Given the description of an element on the screen output the (x, y) to click on. 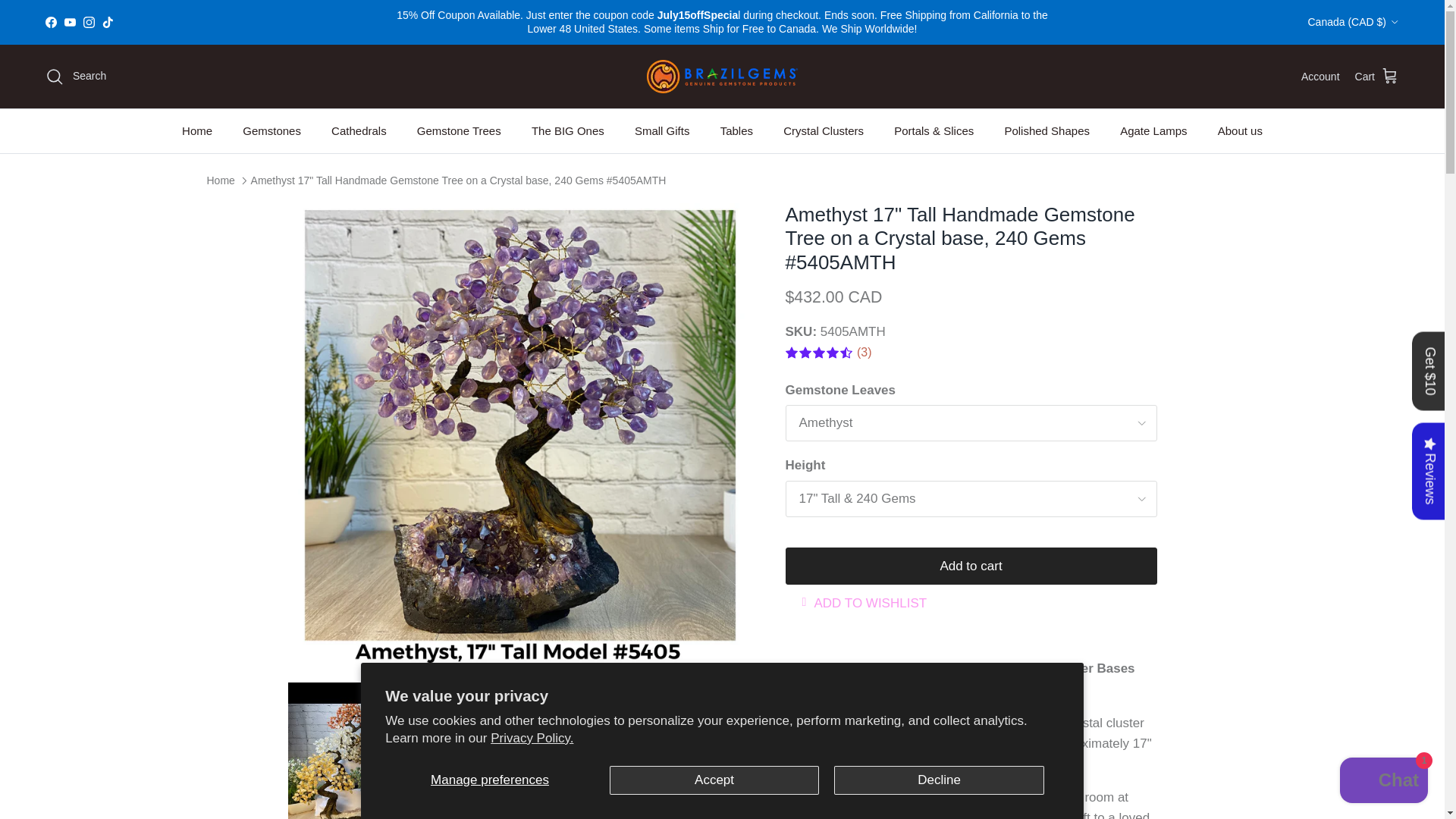
Shopify online store chat (1383, 781)
Gemstones (271, 130)
Facebook (50, 21)
Search (75, 76)
Brazil Gems on YouTube (69, 21)
Brazil Gems on TikTok (107, 21)
Brazil Gems on Instagram (88, 21)
Brazil Gems (721, 76)
Cart (1377, 76)
Decline (938, 779)
Manage preferences (489, 779)
Home (196, 130)
YouTube (69, 21)
Accept (714, 779)
Instagram (88, 21)
